Given the description of an element on the screen output the (x, y) to click on. 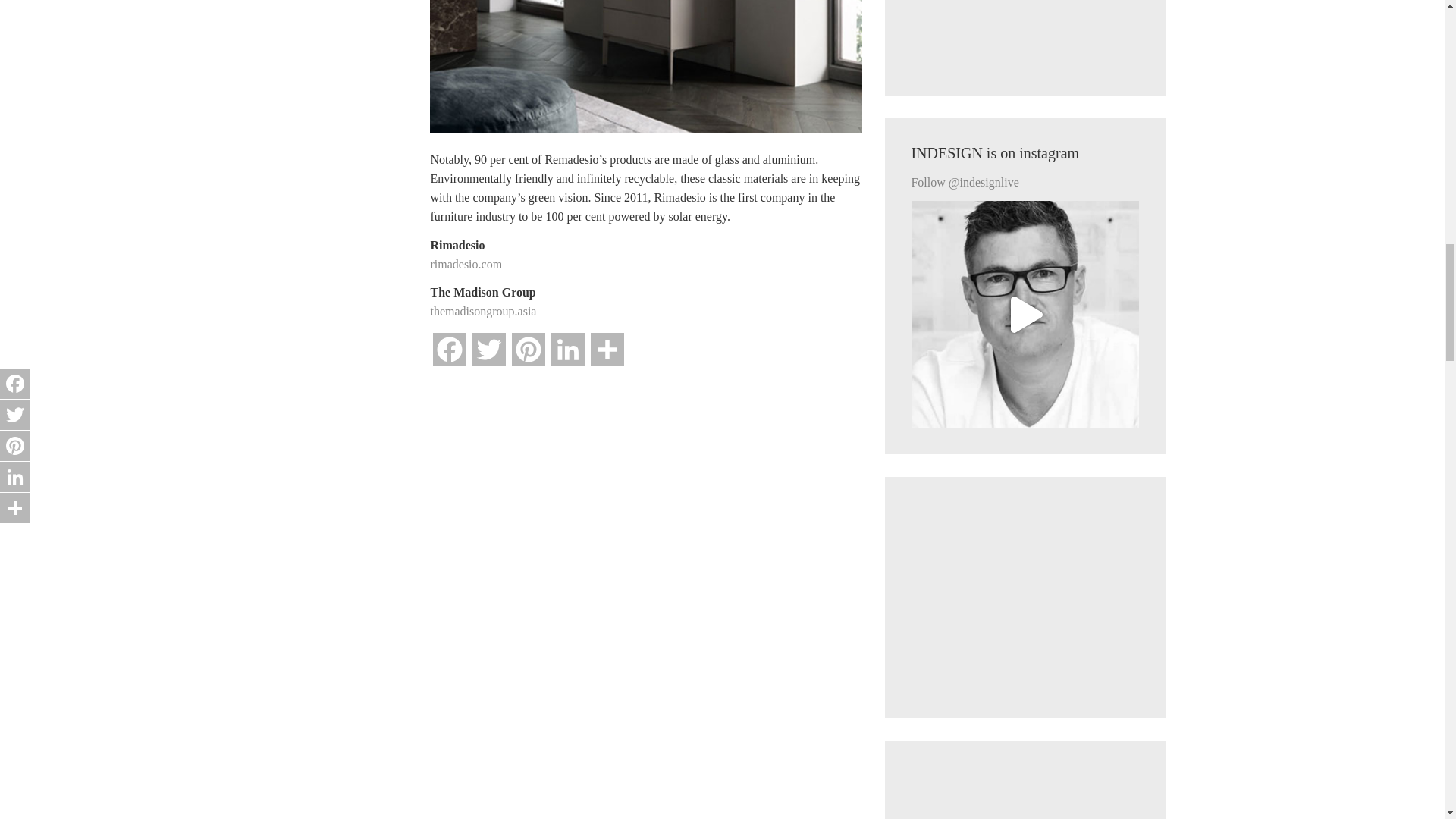
3rd party ad content (1024, 34)
